Given the description of an element on the screen output the (x, y) to click on. 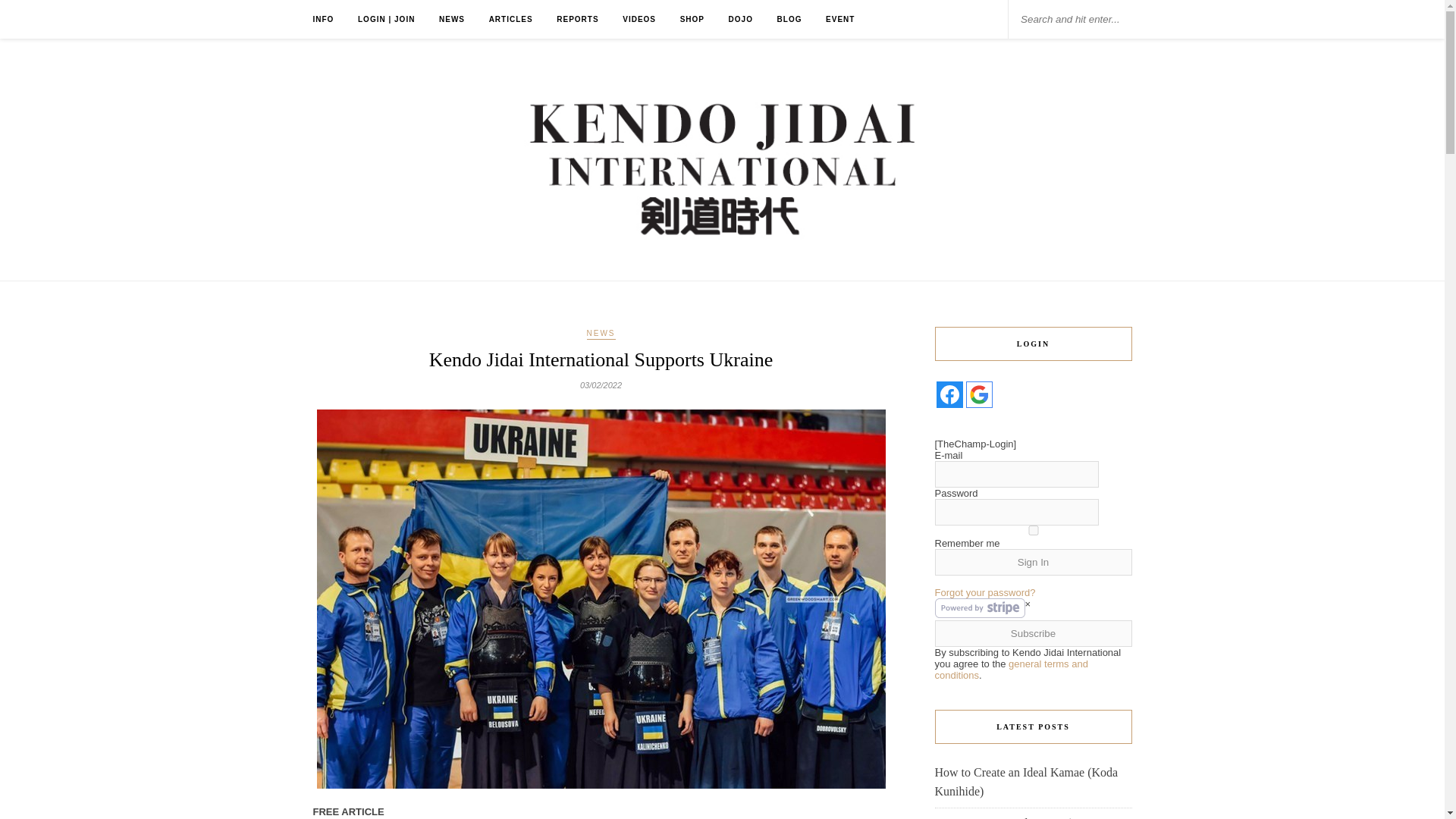
Sign In (1032, 561)
View all posts in NEWS (600, 334)
REPORTS (577, 19)
Login with Google (979, 394)
ARTICLES (510, 19)
NEWS (600, 334)
Subscribe (1032, 633)
forever (1032, 530)
Login with Facebook (949, 394)
